Given the description of an element on the screen output the (x, y) to click on. 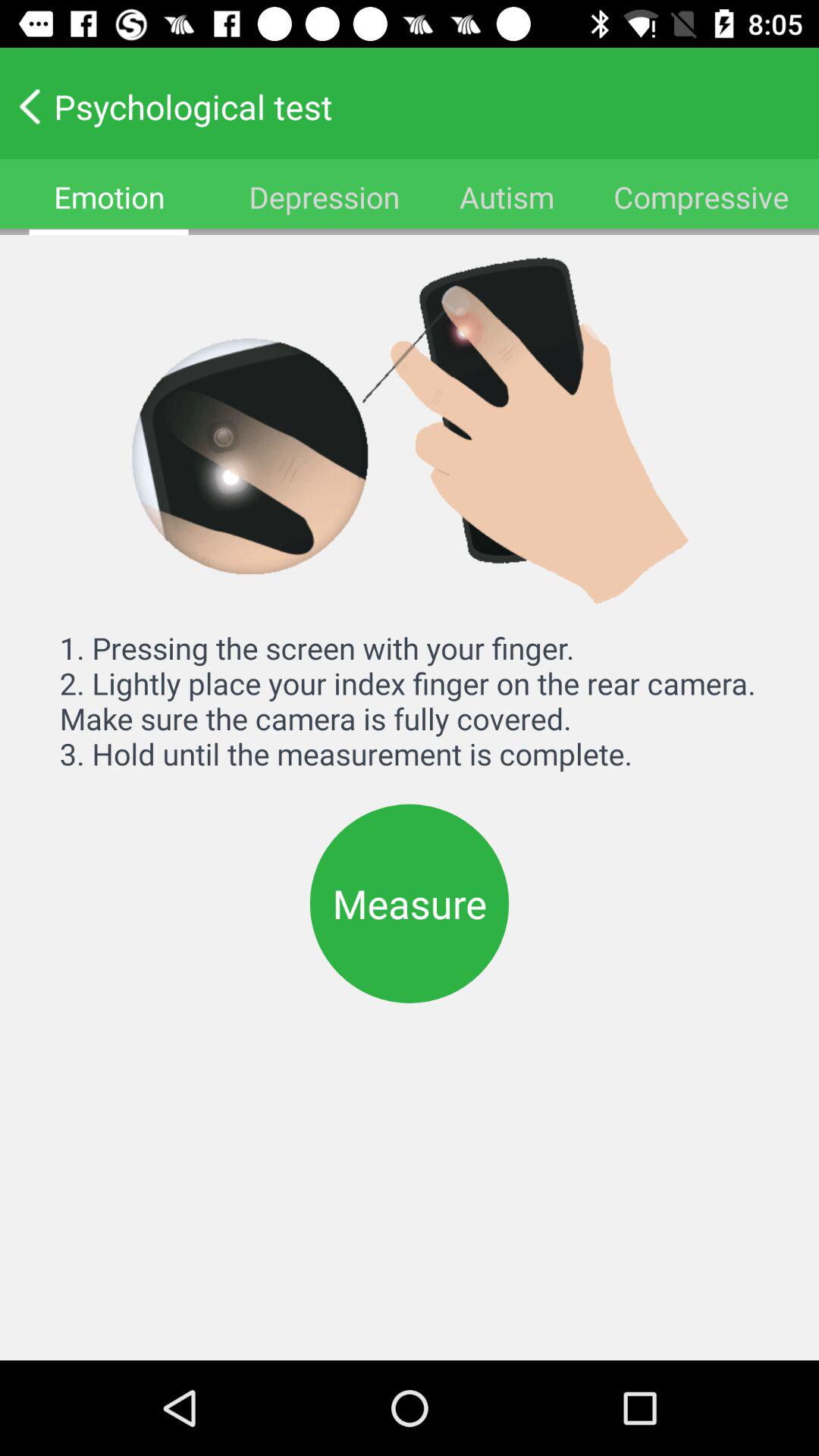
click item to the right of the emotion icon (323, 196)
